Given the description of an element on the screen output the (x, y) to click on. 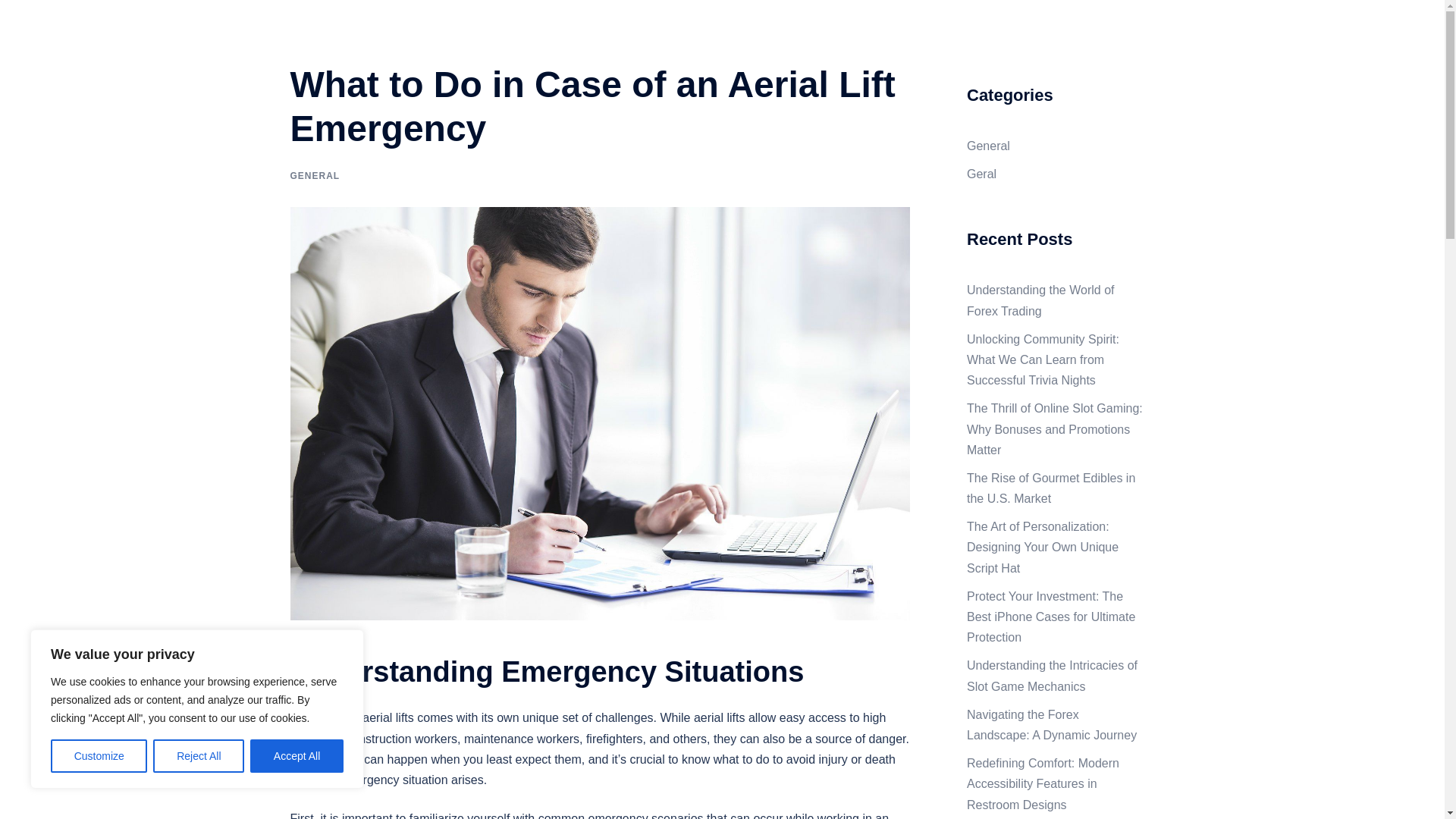
General (988, 145)
Customize (98, 756)
GENERAL (314, 175)
Geral (980, 173)
Ururbu River (363, 29)
The Rise of Gourmet Edibles in the U.S. Market (1050, 488)
Understanding the Intricacies of Slot Game Mechanics (1051, 675)
Navigating the Forex Landscape: A Dynamic Journey (1051, 725)
